Given the description of an element on the screen output the (x, y) to click on. 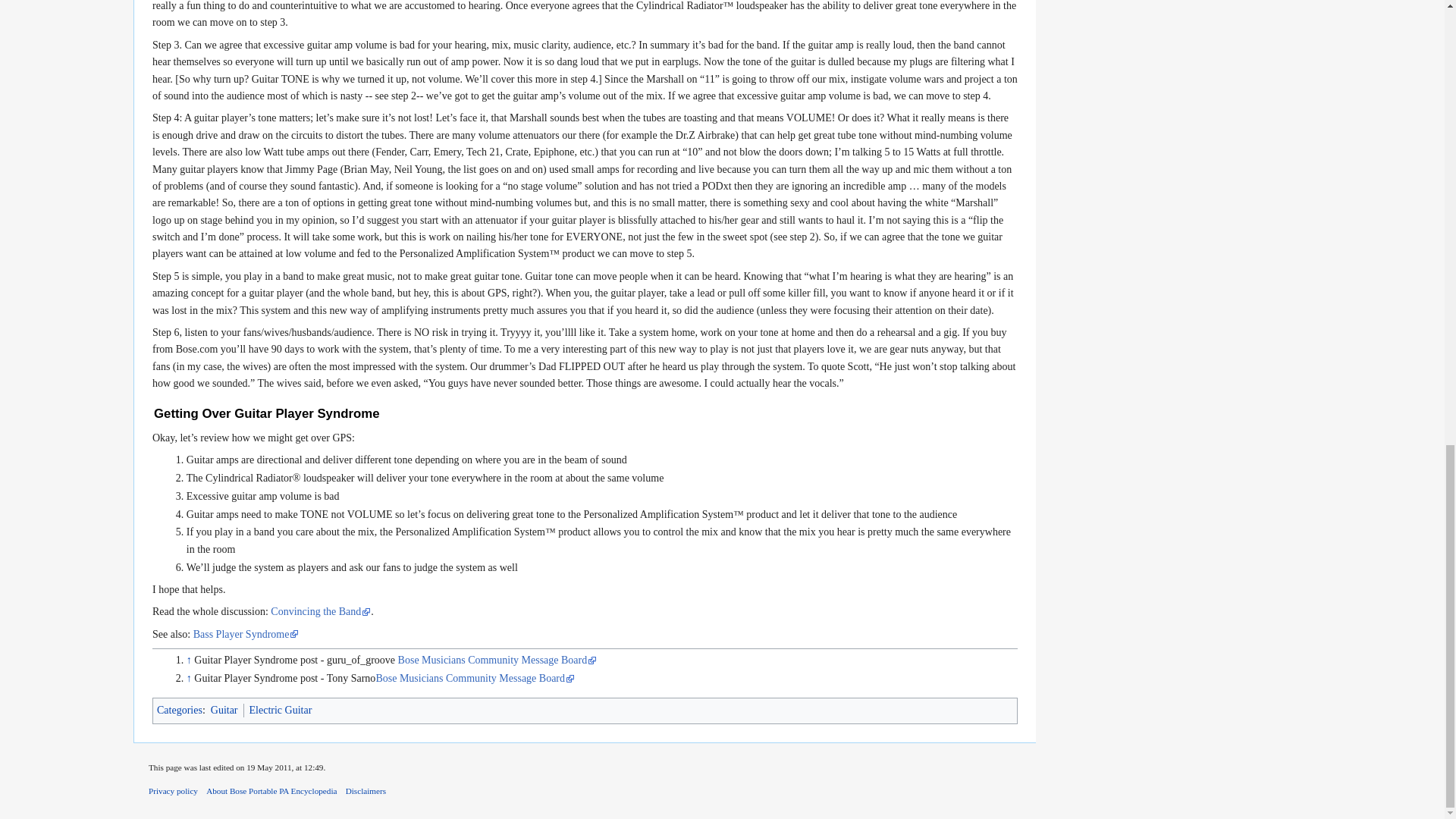
Guitar (224, 709)
Electric Guitar (280, 709)
Special:Categories (179, 709)
Category:Guitar (224, 709)
Bose Musicians Community Message Board (475, 677)
Bass Player Syndrome (246, 633)
Categories (179, 709)
Bose Musicians Community Message Board (496, 659)
Convincing the Band (320, 611)
Category:Electric Guitar (280, 709)
